Given the description of an element on the screen output the (x, y) to click on. 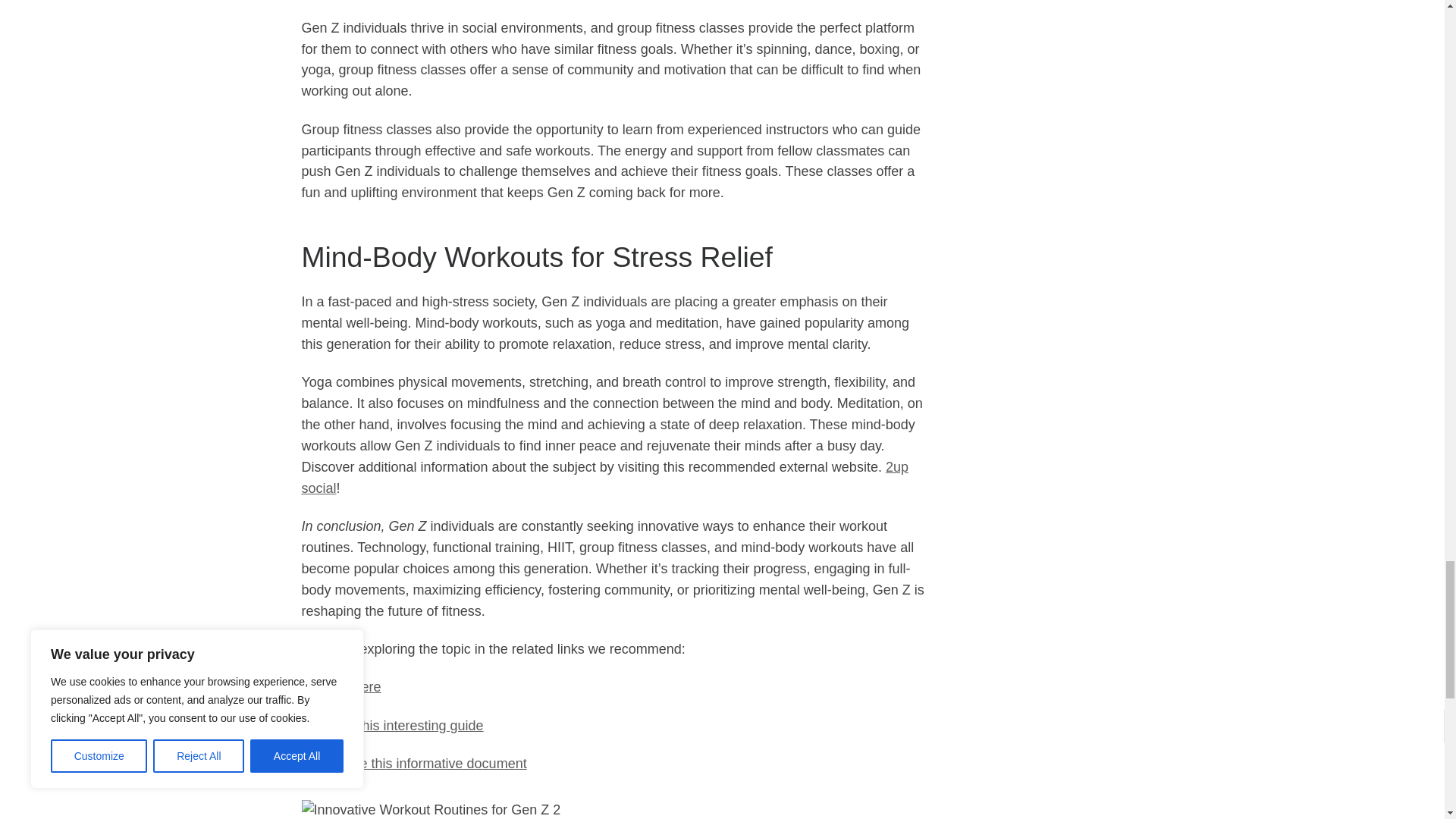
Examine this interesting guide (392, 725)
2up social (604, 477)
Investigate this informative document (414, 763)
Unearth here (341, 686)
